Given the description of an element on the screen output the (x, y) to click on. 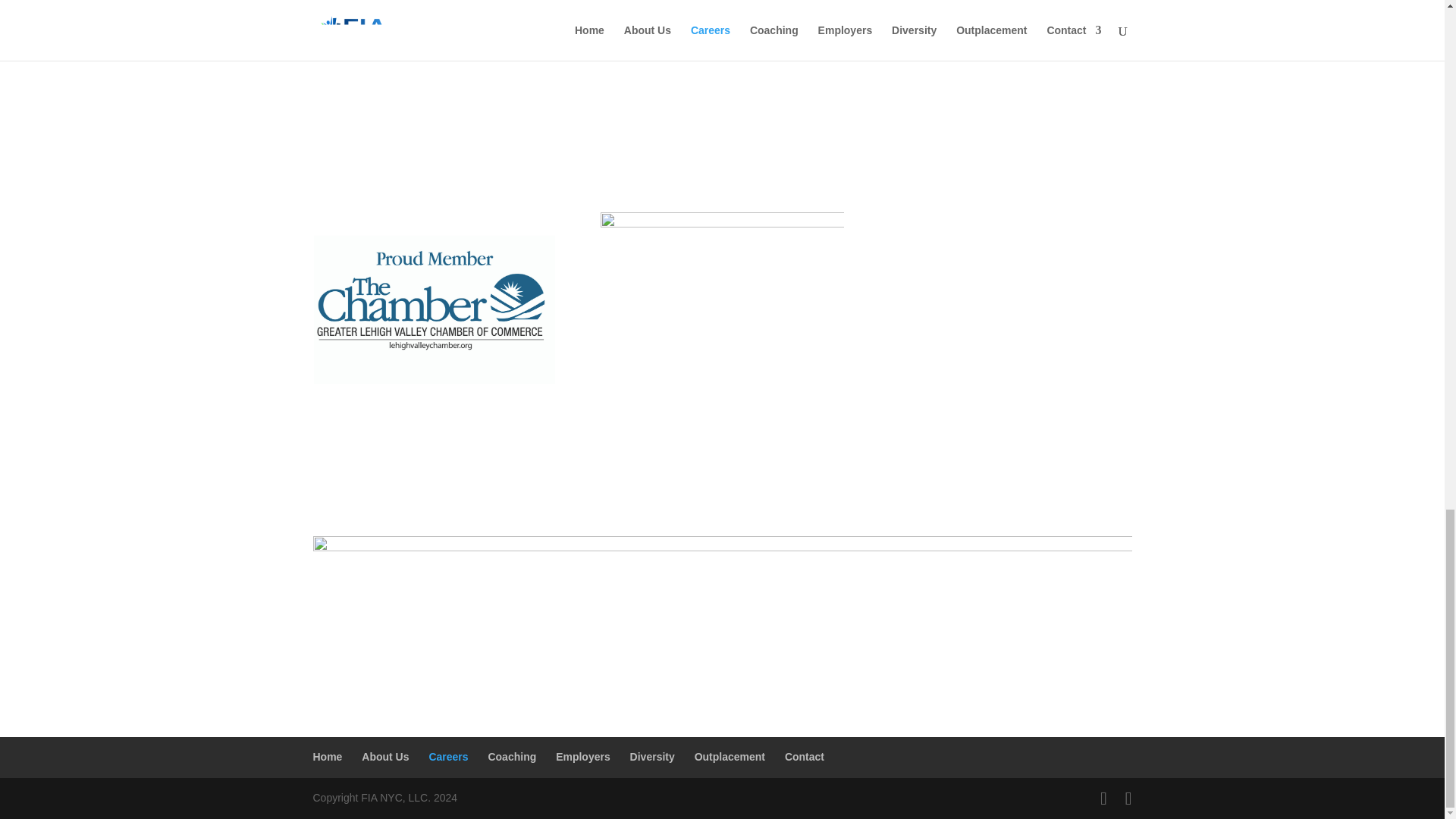
Follow on Youtube (1024, 224)
Home (327, 756)
Diversity (652, 756)
Follow on Facebook (964, 224)
Contact (804, 756)
Employers (583, 756)
Follow on LinkedIn (1055, 224)
Careers (447, 756)
About Us (385, 756)
Outplacement (729, 756)
Coaching (511, 756)
Untitled design-5 (433, 312)
Follow on X (994, 224)
Print (721, 296)
